Given the description of an element on the screen output the (x, y) to click on. 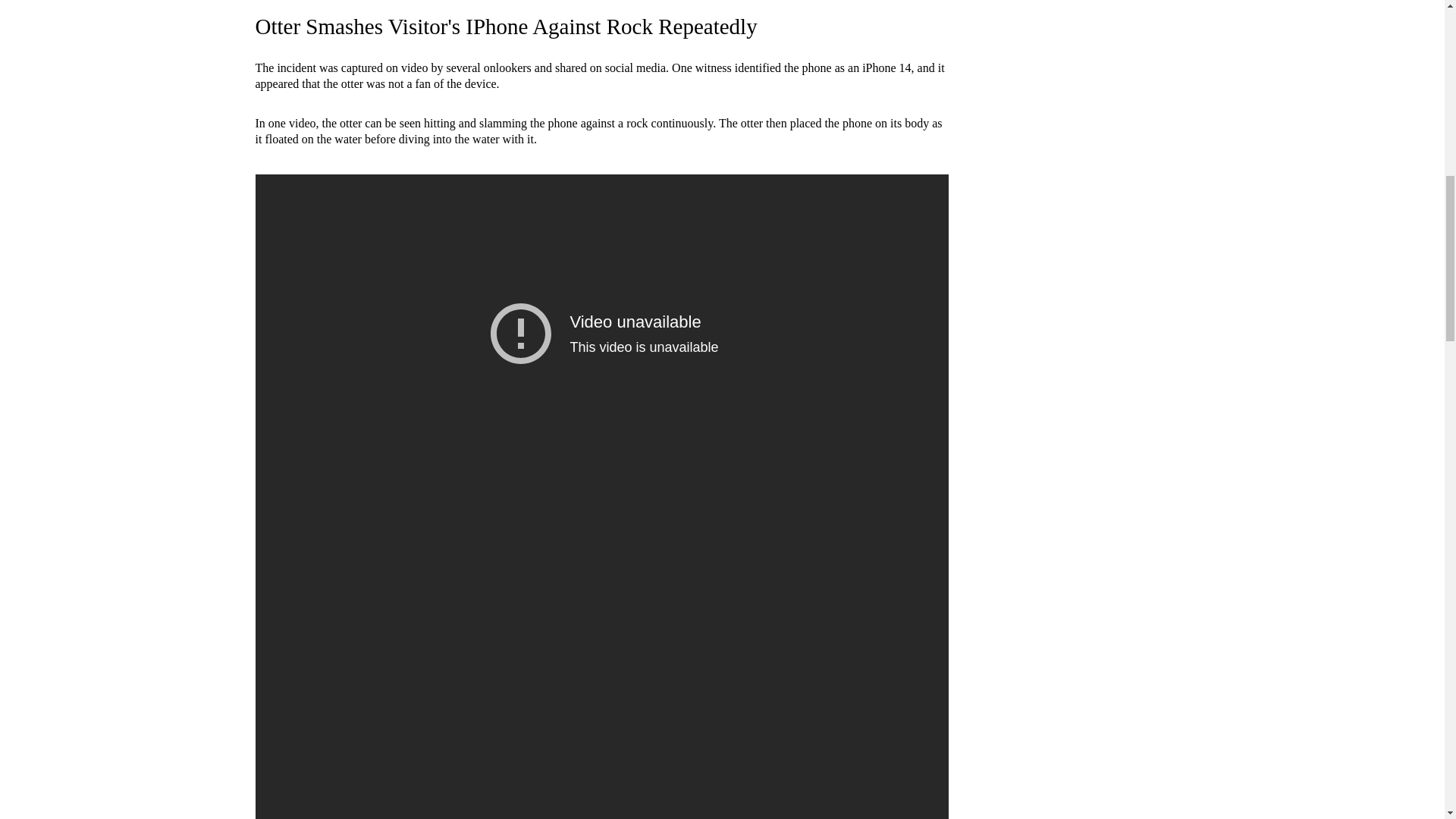
Otter Smashes Visitor's IPhone Against Rock Repeatedly (505, 26)
Otter Smashes Visitor'S IPhone Against Rock Repeatedly (505, 26)
